Given the description of an element on the screen output the (x, y) to click on. 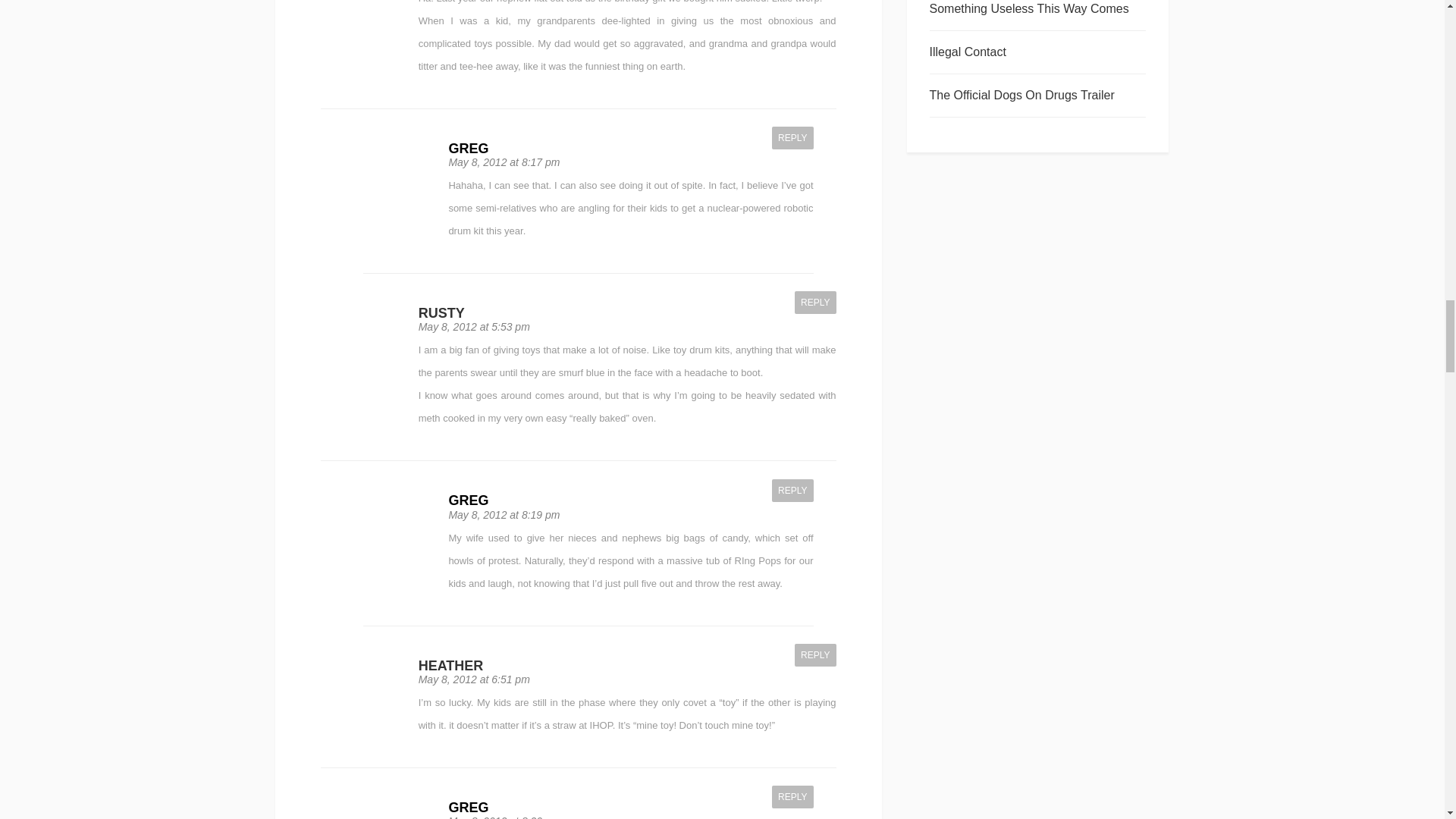
RUSTY (441, 313)
REPLY (791, 137)
REPLY (791, 490)
REPLY (814, 654)
REPLY (814, 302)
HEATHER (451, 665)
